Given the description of an element on the screen output the (x, y) to click on. 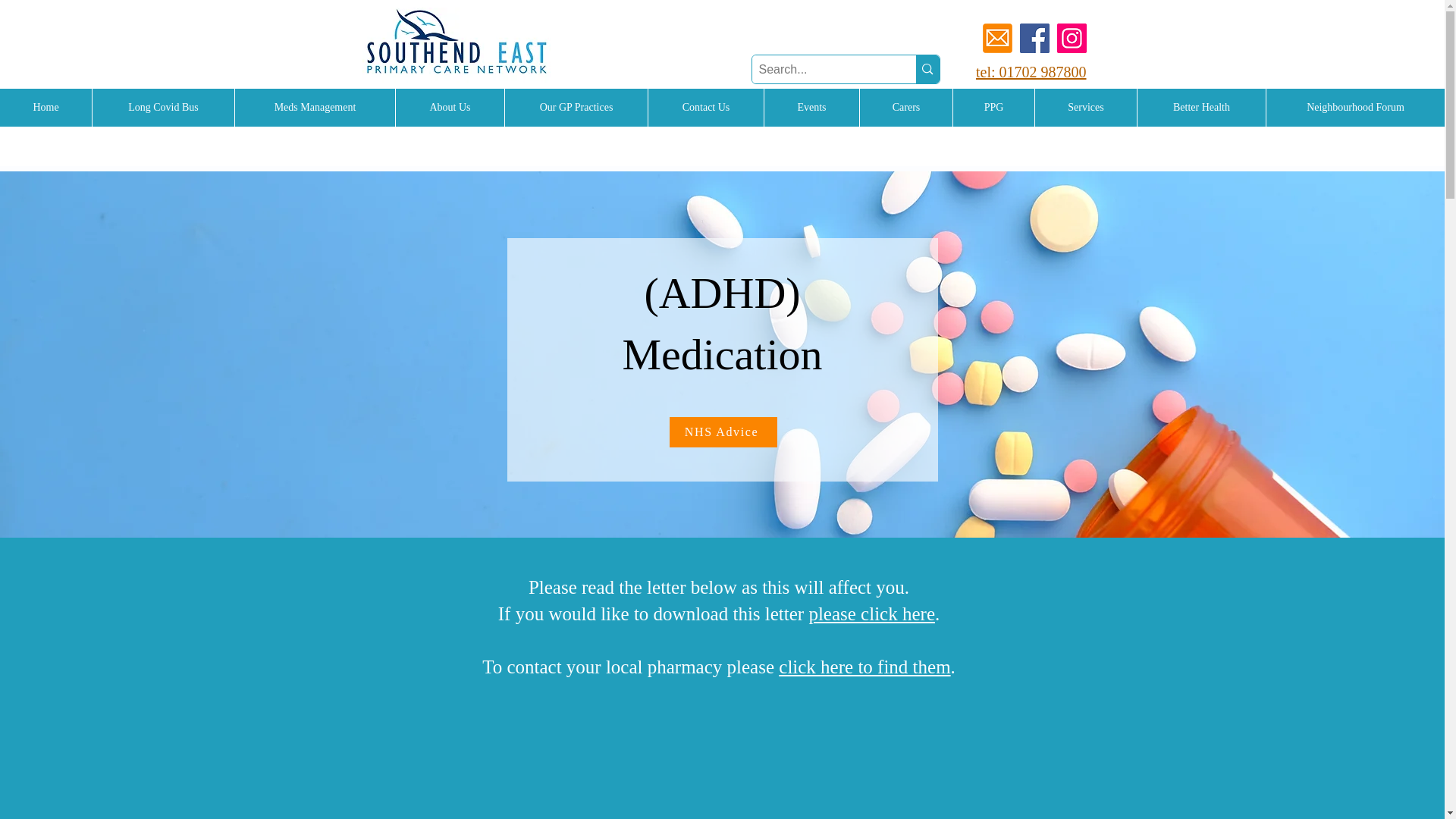
PCN Samples Birds Rectangle.jpg (456, 44)
Services (1085, 107)
Our GP Practices (575, 107)
Home (45, 107)
PPG (992, 107)
Contact Us (704, 107)
Events (810, 107)
Long Covid Bus (162, 107)
tel: 01702 987800 (1030, 71)
Carers (905, 107)
About Us (448, 107)
